Given the description of an element on the screen output the (x, y) to click on. 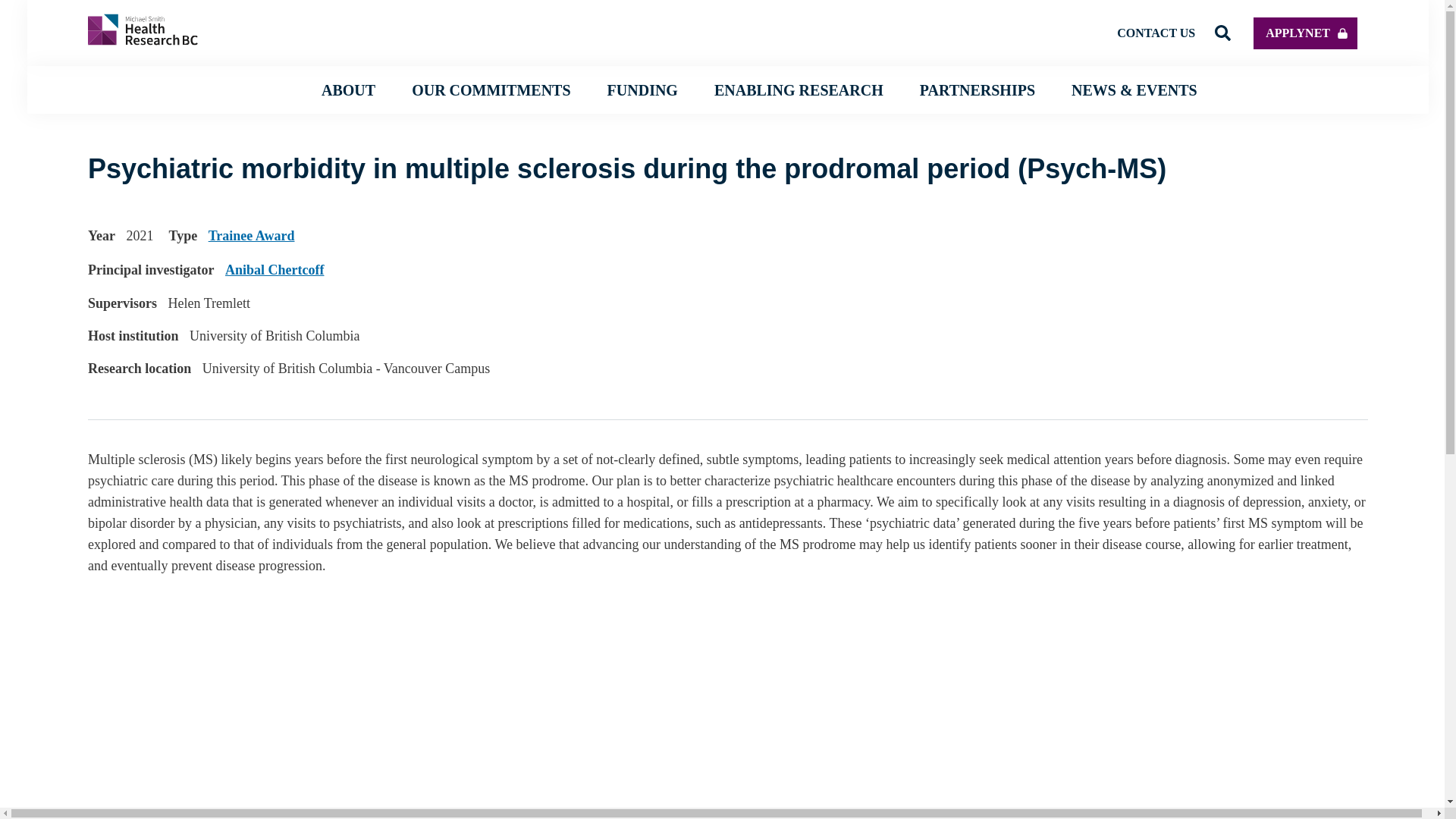
OUR COMMITMENTS (491, 89)
ENABLING RESEARCH (798, 89)
APPLYNET (1304, 32)
ABOUT (348, 89)
FUNDING (642, 89)
CONTACT US (1155, 32)
